Given the description of an element on the screen output the (x, y) to click on. 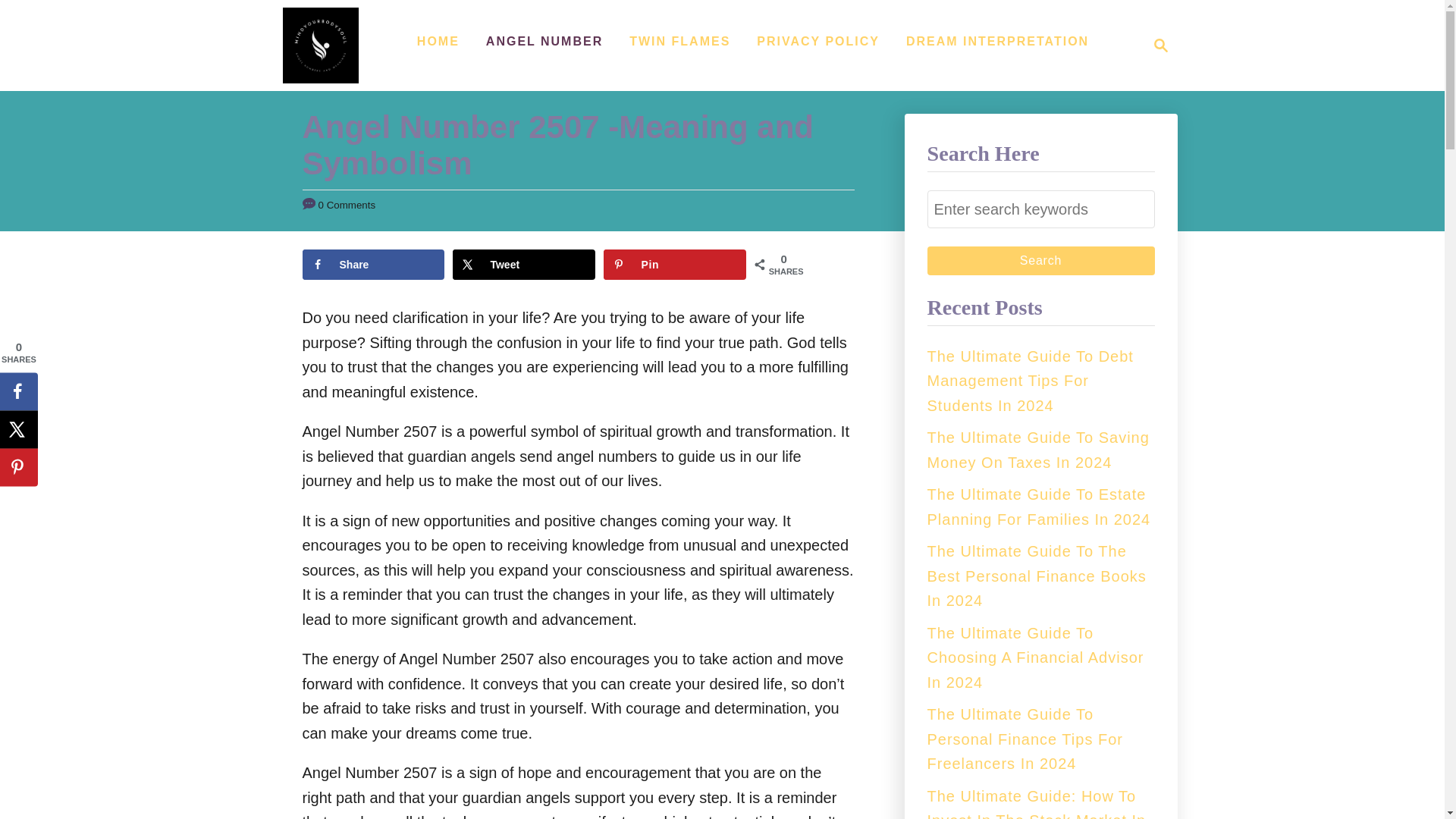
ANGEL NUMBER (544, 41)
Pin (674, 264)
Tweet (523, 264)
Search for: (1040, 209)
Share on Facebook (18, 391)
PRIVACY POLICY (817, 41)
The Ultimate Guide To Choosing A Financial Advisor In 2024 (1034, 657)
Save to Pinterest (674, 264)
Mind Your Body Soul (320, 45)
